Given the description of an element on the screen output the (x, y) to click on. 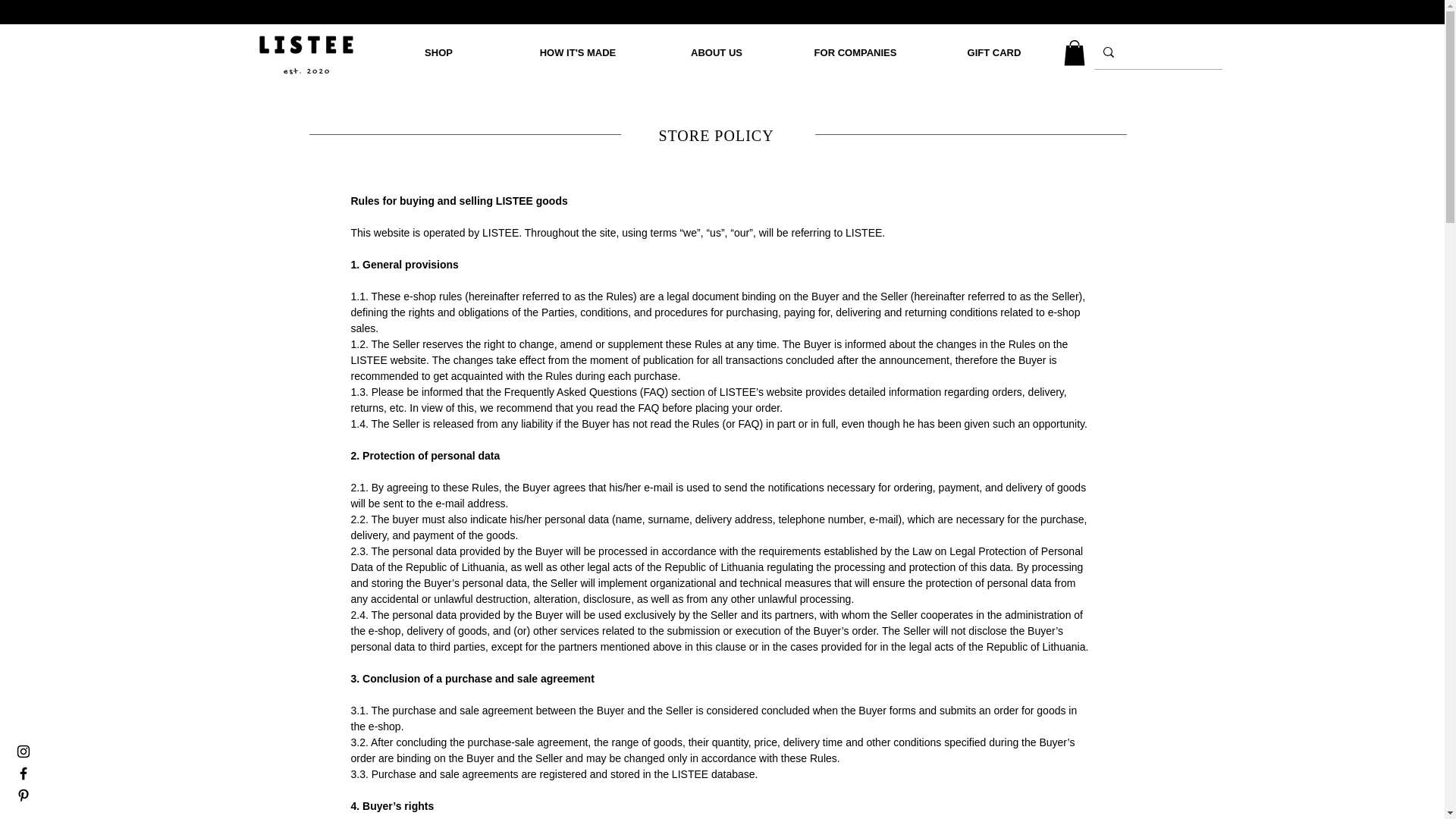
GIFT CARD (994, 52)
ABOUT US (716, 52)
HOW IT'S MADE (577, 52)
FOR COMPANIES (855, 52)
SHOP (438, 52)
